Given the description of an element on the screen output the (x, y) to click on. 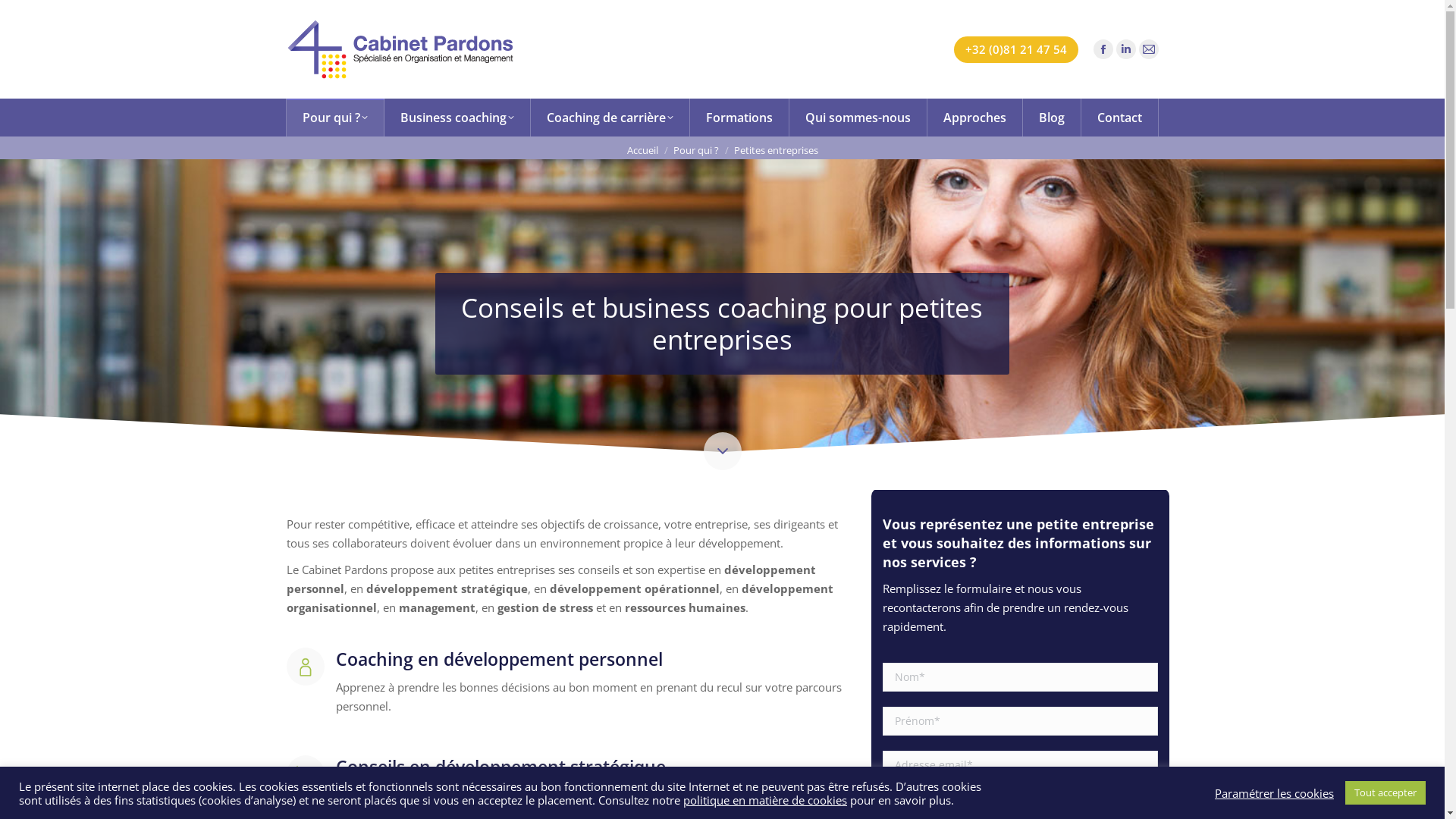
Blog Element type: text (1051, 117)
Qui sommes-nous Element type: text (341, 633)
+32 (0)81 21 47 54 Element type: text (1015, 49)
Pour qui ? Element type: text (695, 149)
Approches Element type: text (974, 117)
Qui sommes-nous Element type: text (857, 117)
Je m'abonne ! Element type: text (789, 624)
Formations Element type: text (323, 600)
Facebook page opens in new window Element type: text (523, 572)
Pour qui ? Element type: text (335, 117)
Accueil Element type: text (313, 467)
LinkedIn page opens in new window Element type: text (545, 572)
Contact Element type: text (314, 733)
Formations Element type: text (739, 117)
Facebook page opens in new window Element type: text (1103, 49)
Mail page opens in new window Element type: text (1148, 49)
LinkedIn page opens in new window Element type: text (1125, 49)
Business coaching Element type: text (342, 533)
Accueil Element type: text (641, 149)
Blog Element type: text (306, 700)
Pour qui ? Element type: text (320, 500)
Mail page opens in new window Element type: text (568, 572)
Business coaching Element type: text (456, 117)
Poush Element type: text (325, 796)
Tout accepter Element type: text (1385, 792)
Contact Element type: text (1119, 117)
Ok Element type: text (1102, 520)
Approches Element type: text (322, 667)
